Given the description of an element on the screen output the (x, y) to click on. 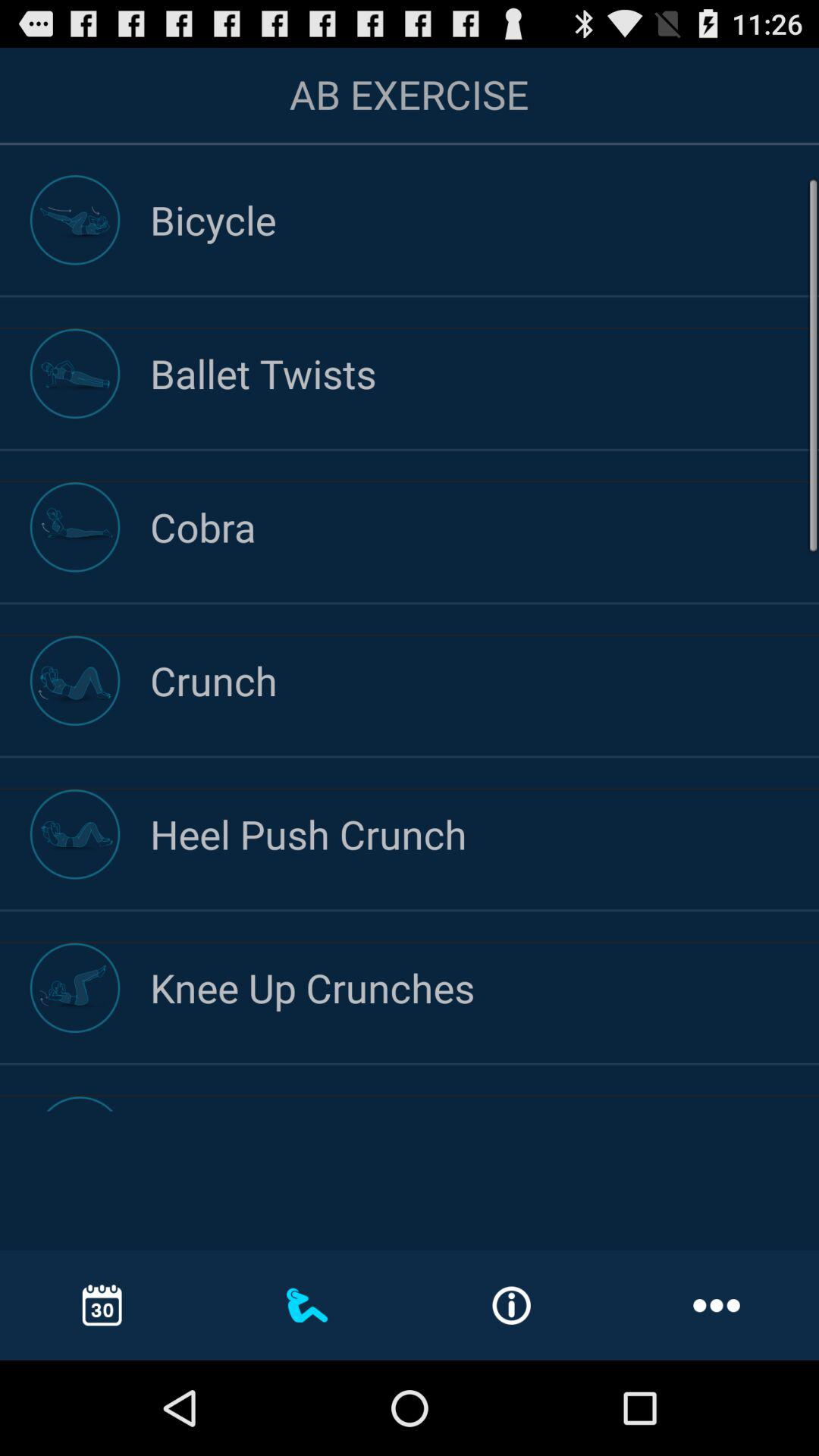
click on the second button from bottom left corner of the page (306, 1305)
click on info button which is beside three horizontal dots at the bottom of the page (511, 1305)
click on the image next to heel push crunch (74, 834)
click on icon beside knee up crunches (74, 987)
click on the icon beside ballet twists (74, 373)
